Given the description of an element on the screen output the (x, y) to click on. 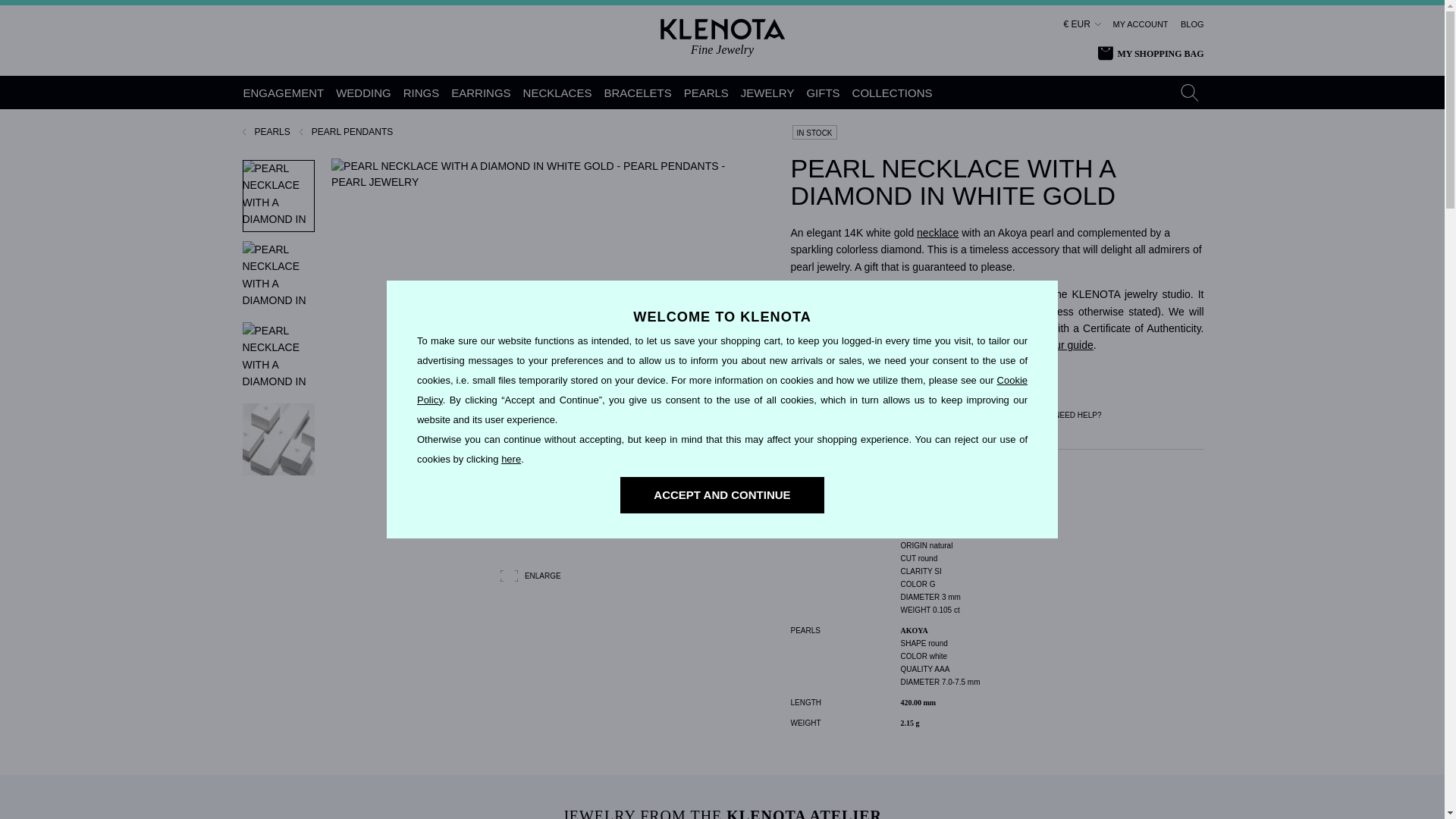
MY ACCOUNT (1141, 24)
ENGAGEMENT (283, 92)
BLOG (1192, 24)
MY SHOPPING BAG (1150, 53)
